Given the description of an element on the screen output the (x, y) to click on. 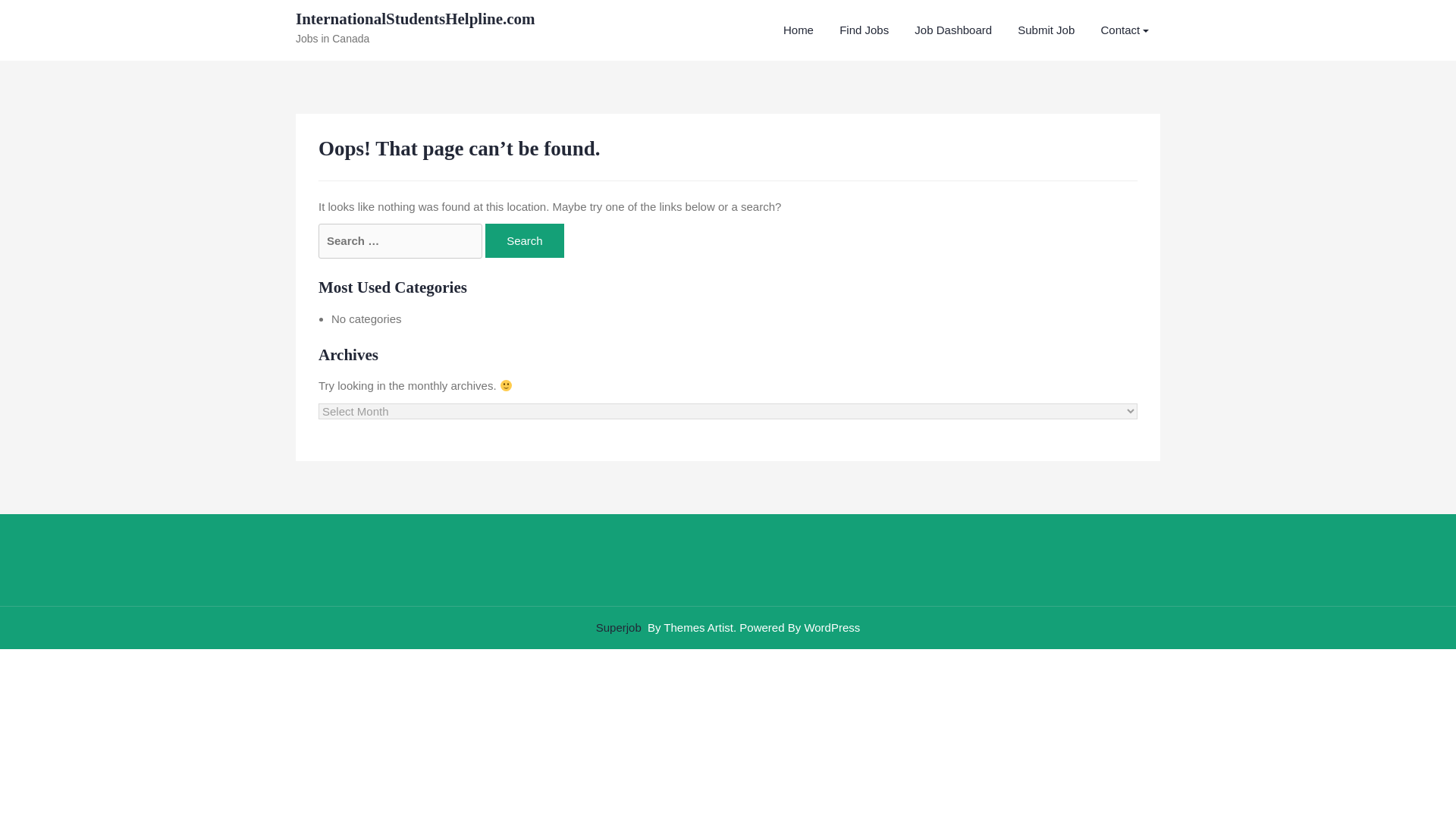
Search (524, 240)
Search (524, 240)
Home (798, 29)
Search (524, 240)
InternationalStudentsHelpline.com (415, 18)
Submit Job (1046, 29)
Job Dashboard (952, 29)
Find Jobs (863, 29)
Contact (1124, 29)
Superjob (618, 626)
